Given the description of an element on the screen output the (x, y) to click on. 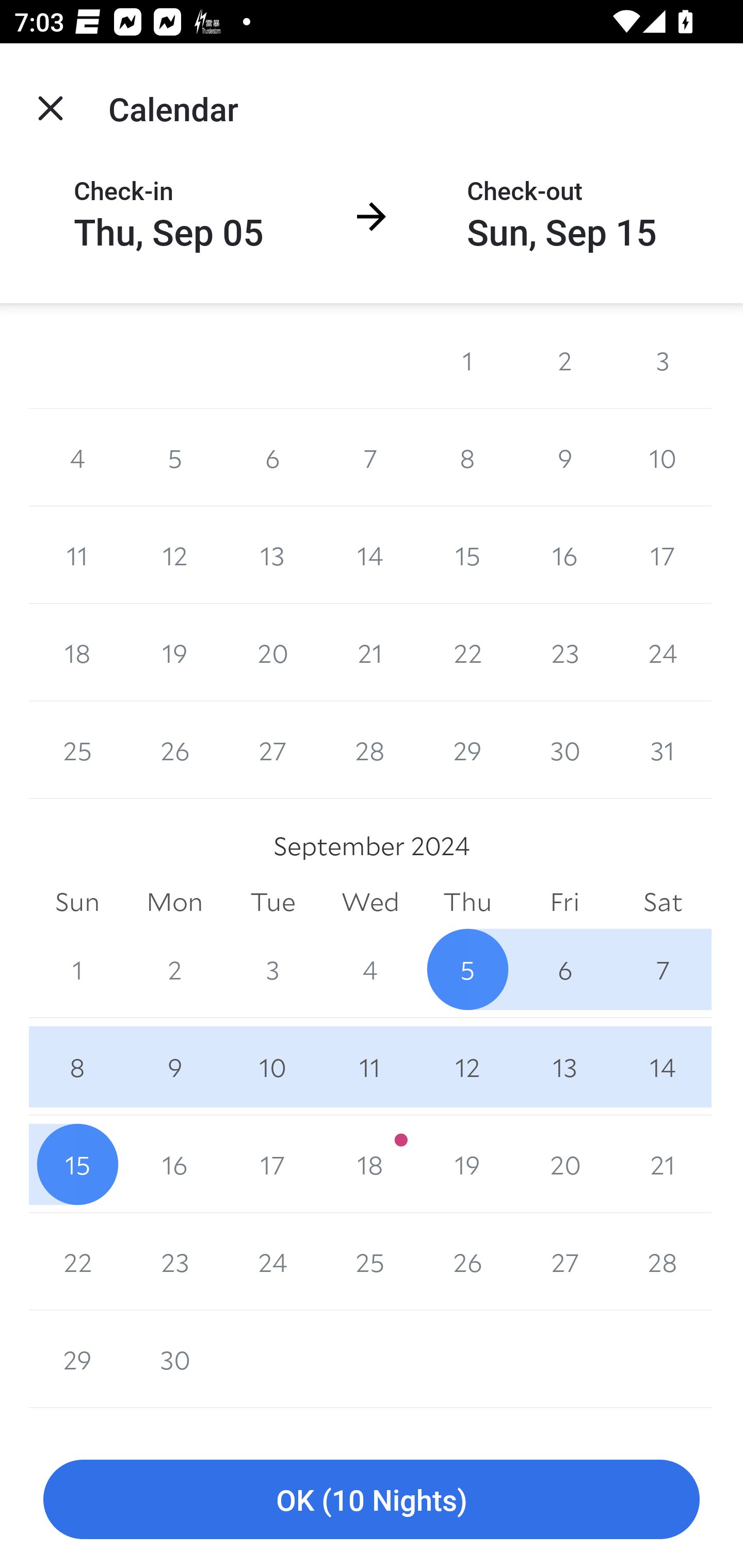
1 1 August 2024 (467, 360)
2 2 August 2024 (564, 360)
3 3 August 2024 (662, 360)
4 4 August 2024 (77, 457)
5 5 August 2024 (174, 457)
6 6 August 2024 (272, 457)
7 7 August 2024 (370, 457)
8 8 August 2024 (467, 457)
9 9 August 2024 (564, 457)
10 10 August 2024 (662, 457)
11 11 August 2024 (77, 554)
12 12 August 2024 (174, 554)
13 13 August 2024 (272, 554)
14 14 August 2024 (370, 554)
15 15 August 2024 (467, 554)
16 16 August 2024 (564, 554)
17 17 August 2024 (662, 554)
18 18 August 2024 (77, 651)
19 19 August 2024 (174, 651)
20 20 August 2024 (272, 651)
21 21 August 2024 (370, 651)
22 22 August 2024 (467, 651)
23 23 August 2024 (564, 651)
24 24 August 2024 (662, 651)
25 25 August 2024 (77, 749)
26 26 August 2024 (174, 749)
27 27 August 2024 (272, 749)
28 28 August 2024 (370, 749)
29 29 August 2024 (467, 749)
30 30 August 2024 (564, 749)
31 31 August 2024 (662, 749)
Sun (77, 901)
Mon (174, 901)
Tue (272, 901)
Wed (370, 901)
Thu (467, 901)
Fri (564, 901)
Sat (662, 901)
1 1 September 2024 (77, 968)
2 2 September 2024 (174, 968)
3 3 September 2024 (272, 968)
4 4 September 2024 (370, 968)
5 5 September 2024 (467, 968)
6 6 September 2024 (564, 968)
7 7 September 2024 (662, 968)
8 8 September 2024 (77, 1066)
9 9 September 2024 (174, 1066)
10 10 September 2024 (272, 1066)
11 11 September 2024 (370, 1066)
